Given the description of an element on the screen output the (x, y) to click on. 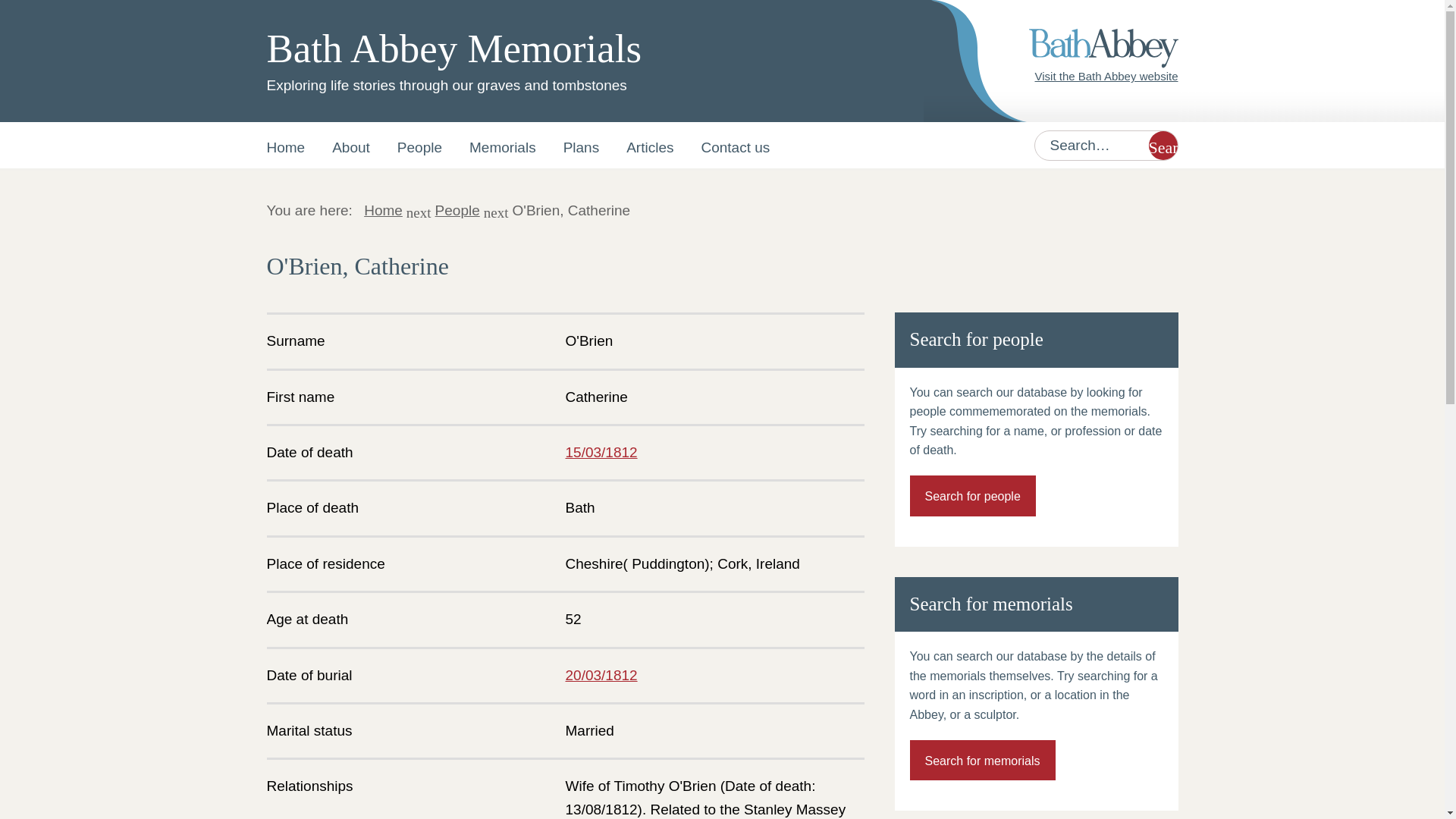
Memorials (502, 145)
Contact us (735, 145)
Search for people (972, 495)
Home (383, 210)
Articles (649, 145)
Plans (581, 145)
Search for memorials (982, 760)
People (419, 145)
Bath Abbey main website (1105, 75)
Visit the Bath Abbey website (1105, 75)
Bath Abbey main website (1102, 47)
Search (1162, 144)
Search Bath Abbey Memorials (1162, 144)
People (457, 210)
Search (1162, 144)
